Given the description of an element on the screen output the (x, y) to click on. 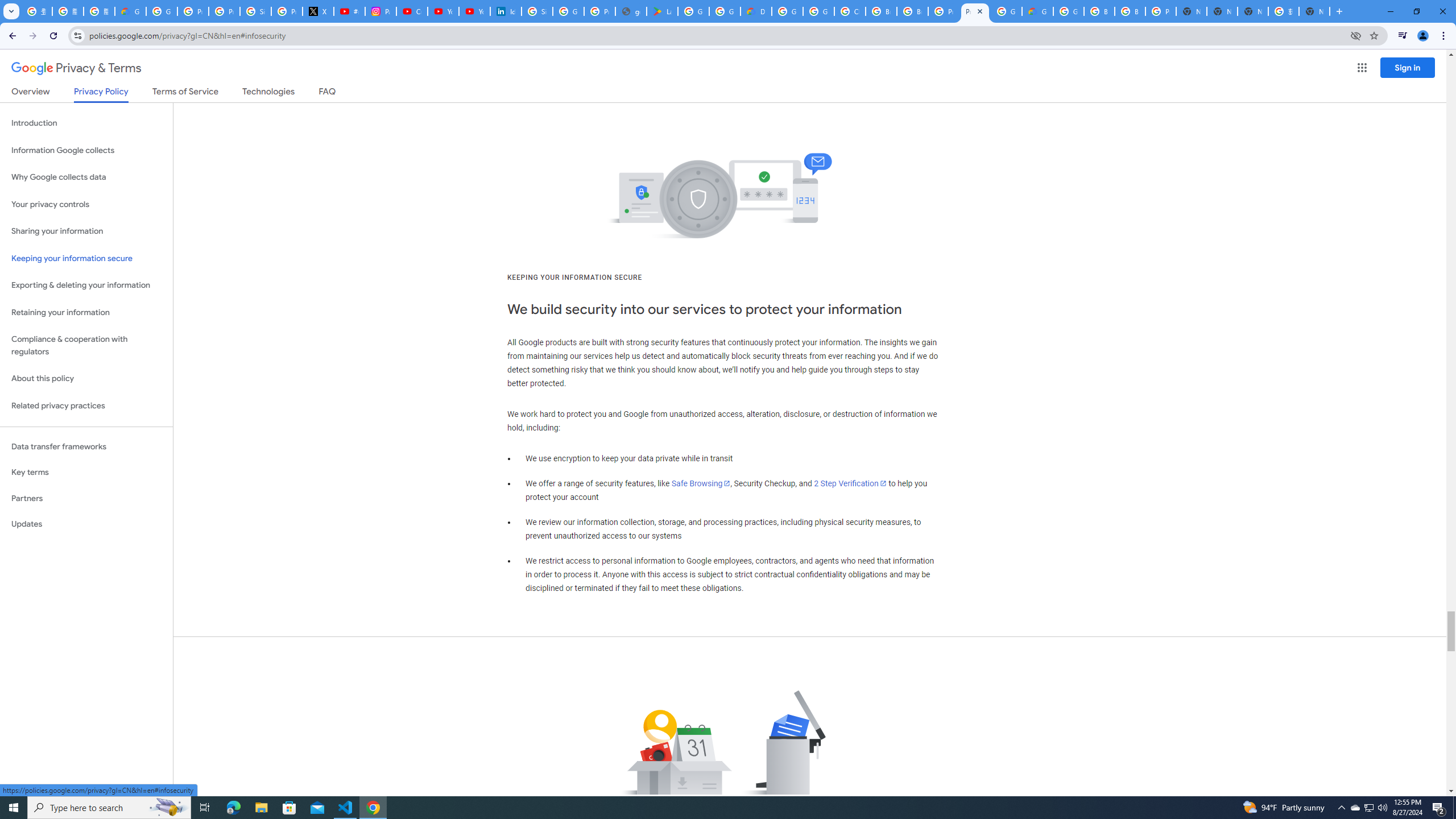
Last Shelter: Survival - Apps on Google Play (662, 11)
Privacy Help Center - Policies Help (223, 11)
#nbabasketballhighlights - YouTube (349, 11)
